Given the description of an element on the screen output the (x, y) to click on. 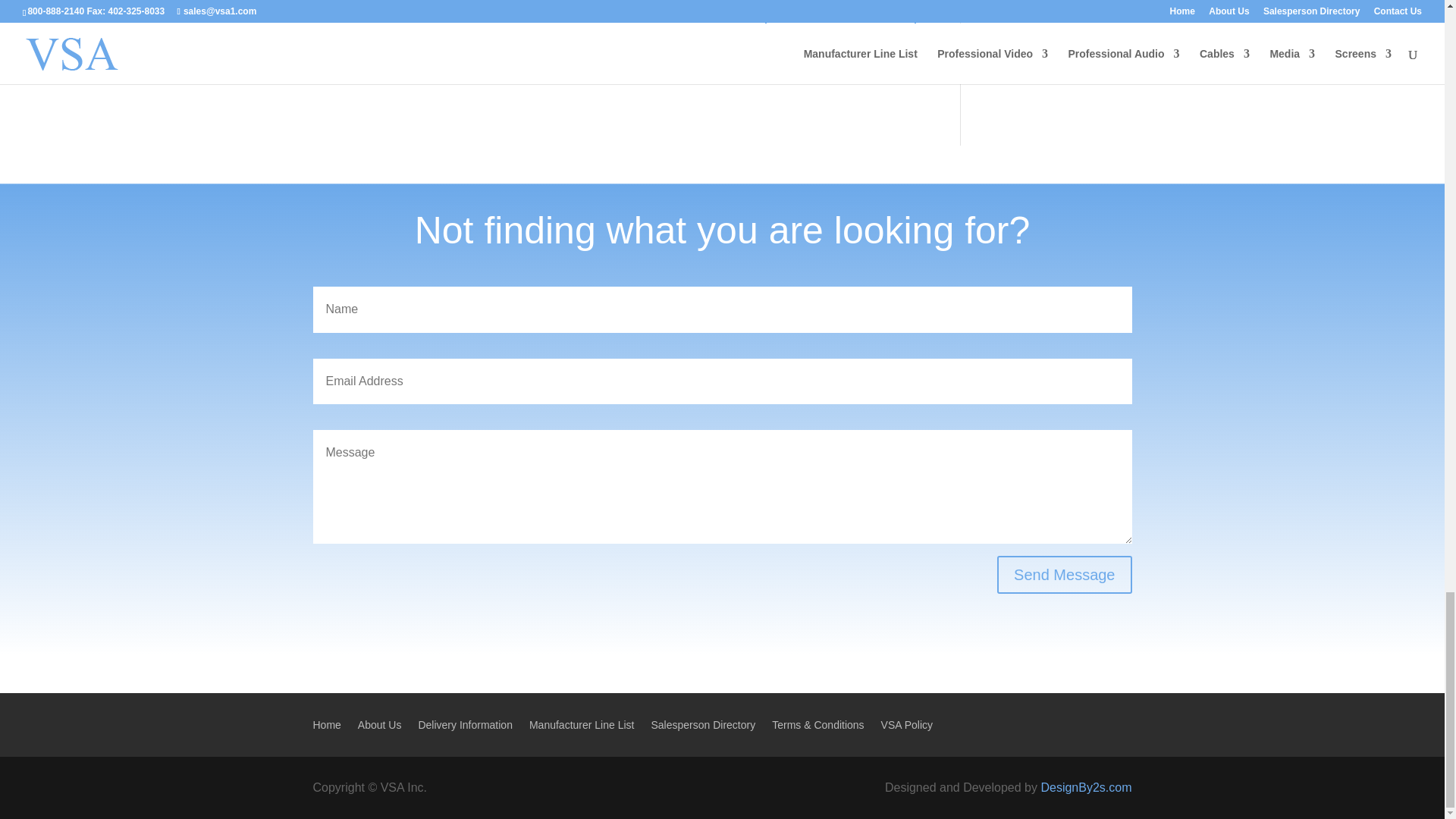
Submit Comment (840, 31)
